Given the description of an element on the screen output the (x, y) to click on. 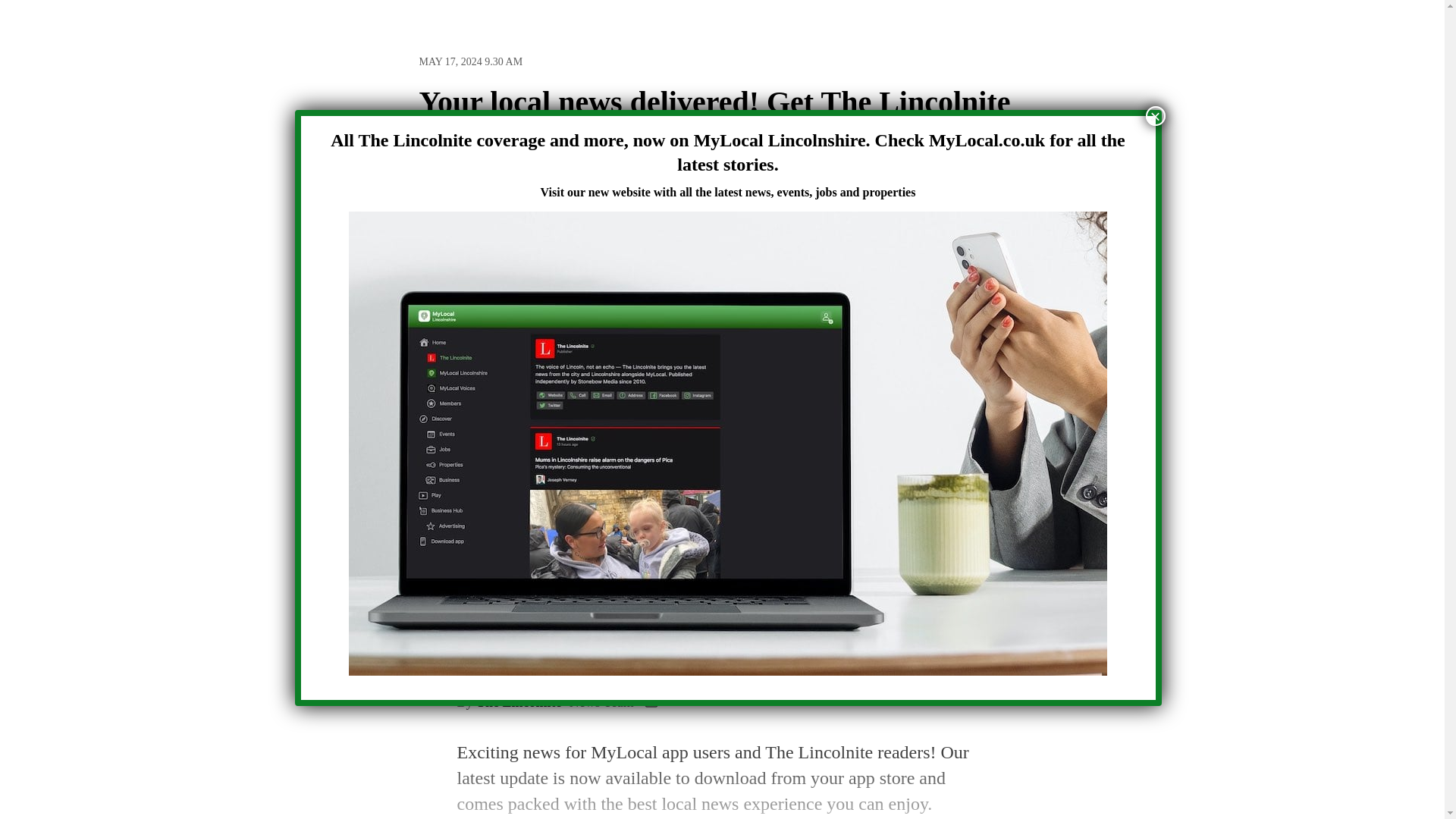
Contact author (651, 702)
